Given the description of an element on the screen output the (x, y) to click on. 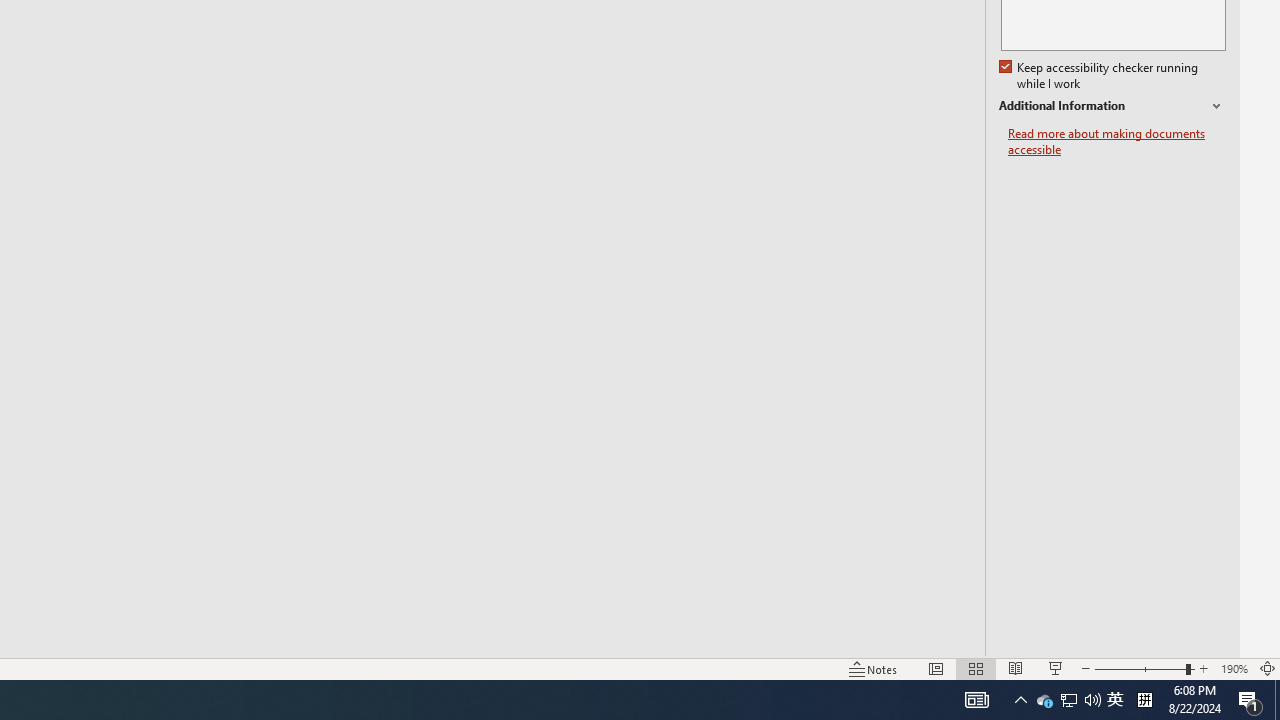
Keep accessibility checker running while I work (1099, 76)
Zoom 190% (1234, 668)
Additional Information (1112, 106)
Read more about making documents accessible (1117, 142)
